Given the description of an element on the screen output the (x, y) to click on. 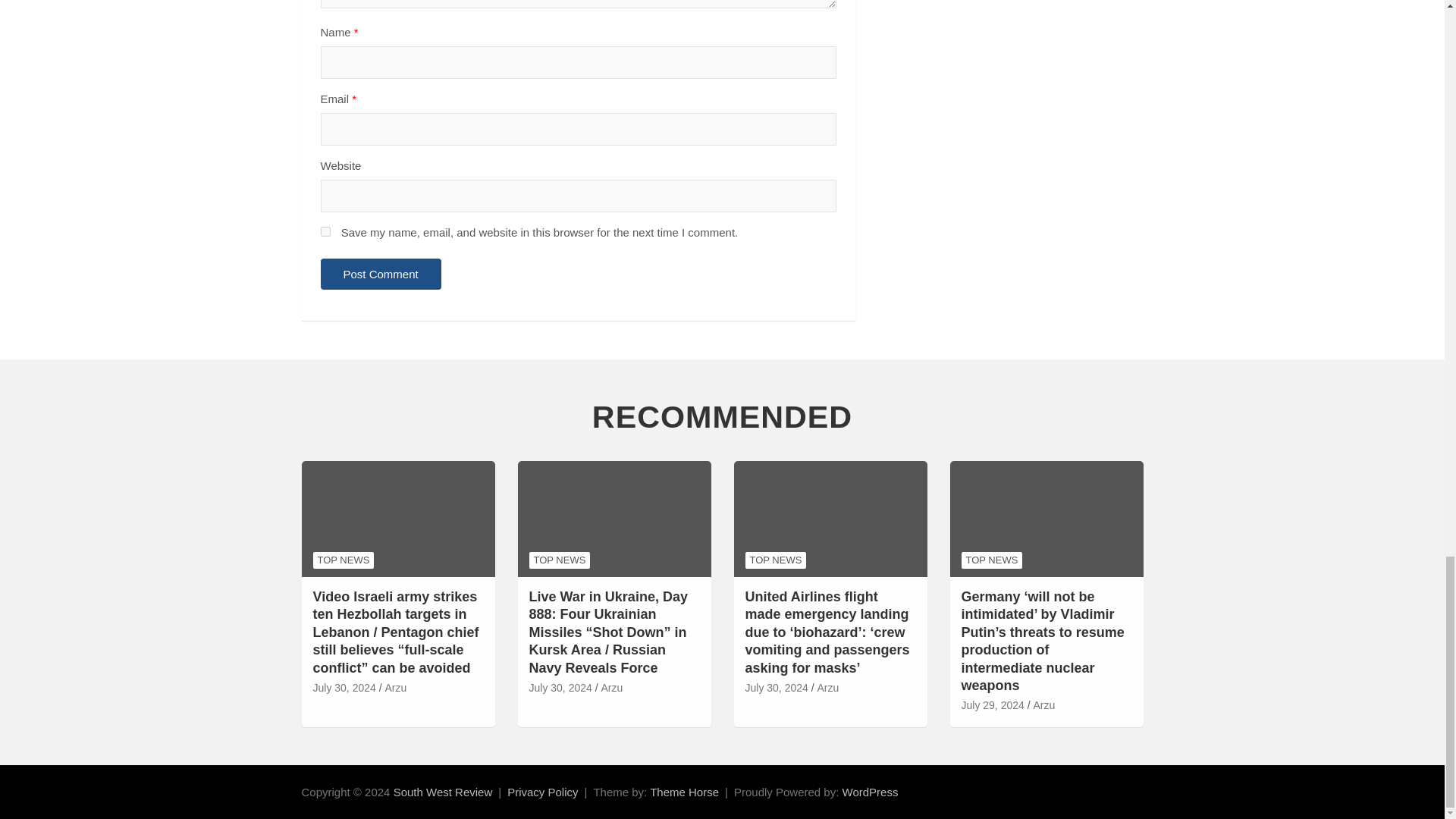
Theme Horse (684, 791)
yes (325, 231)
Post Comment (380, 273)
South West Review (443, 791)
WordPress (870, 791)
TOP NEWS (343, 560)
Post Comment (380, 273)
